Given the description of an element on the screen output the (x, y) to click on. 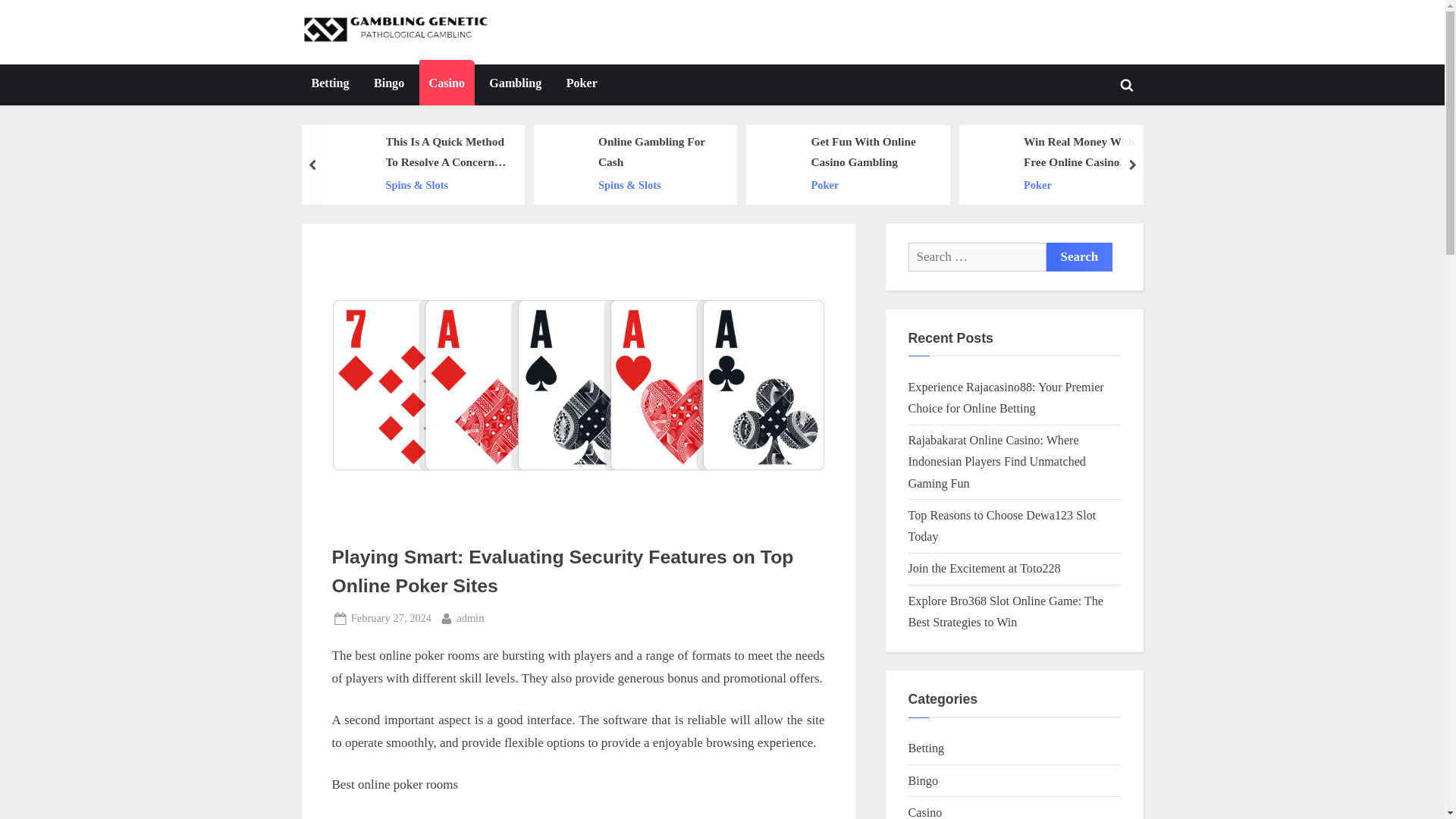
Poker (871, 185)
Casino (446, 84)
Search (1079, 256)
Poker (1085, 185)
Gambling (515, 84)
Gambling Genetic (572, 44)
Win Real Money With Free Online Casino Rewards (1085, 151)
Poker (581, 84)
Search (1079, 256)
Get Fun With Online Casino Gambling (871, 151)
Betting (330, 84)
Online Gambling For Cash (658, 151)
Bingo (388, 84)
Toggle search form (1126, 84)
This Is A Quick Method To Resolve A Concern With Gambling (446, 151)
